Given the description of an element on the screen output the (x, y) to click on. 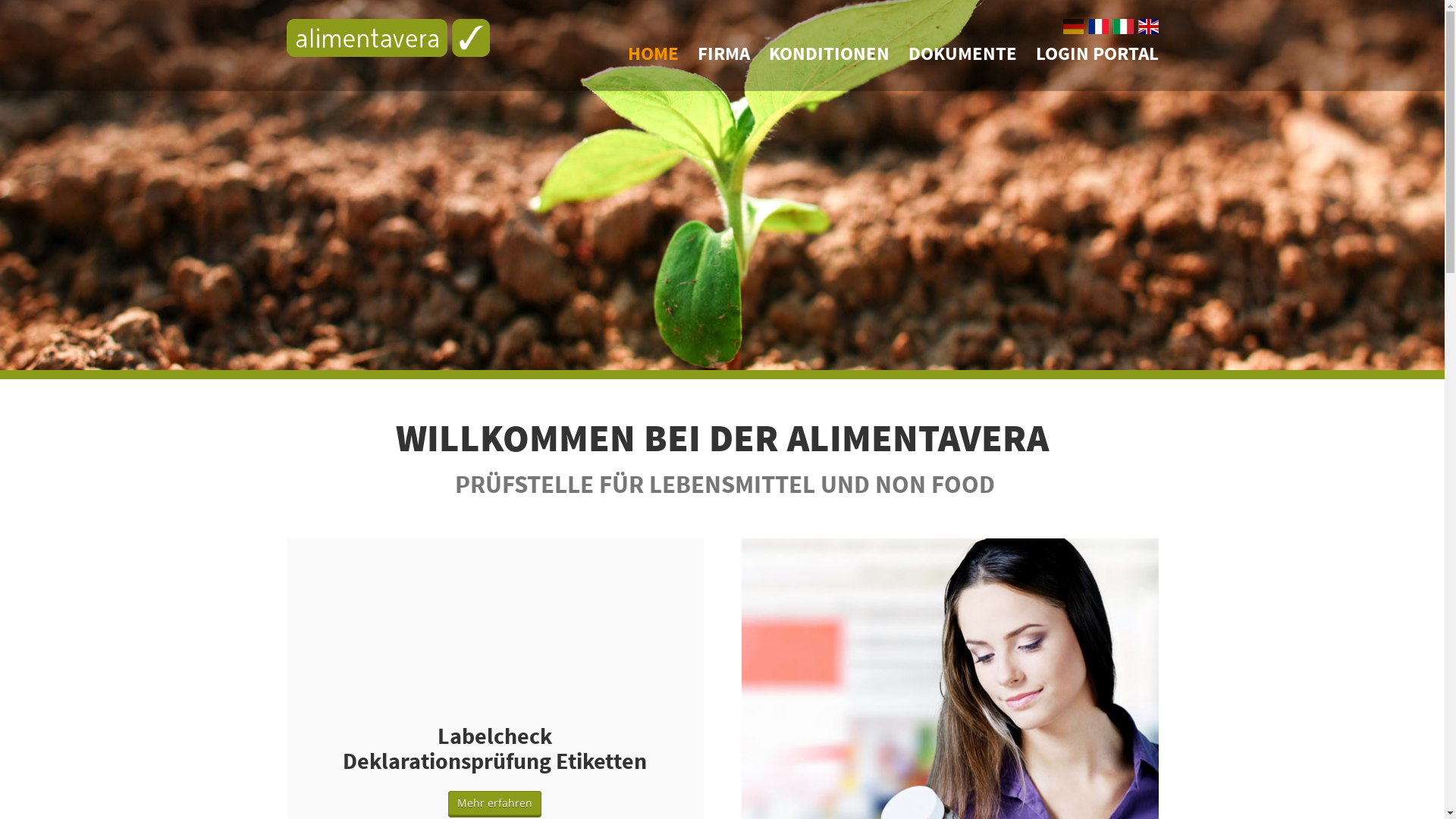
DOKUMENTE Element type: text (962, 53)
LOGIN PORTAL Element type: text (1096, 53)
Mehr erfahren Element type: text (494, 802)
KONDITIONEN Element type: text (828, 53)
FIRMA Element type: text (723, 53)
HOME Element type: text (652, 53)
